Given the description of an element on the screen output the (x, y) to click on. 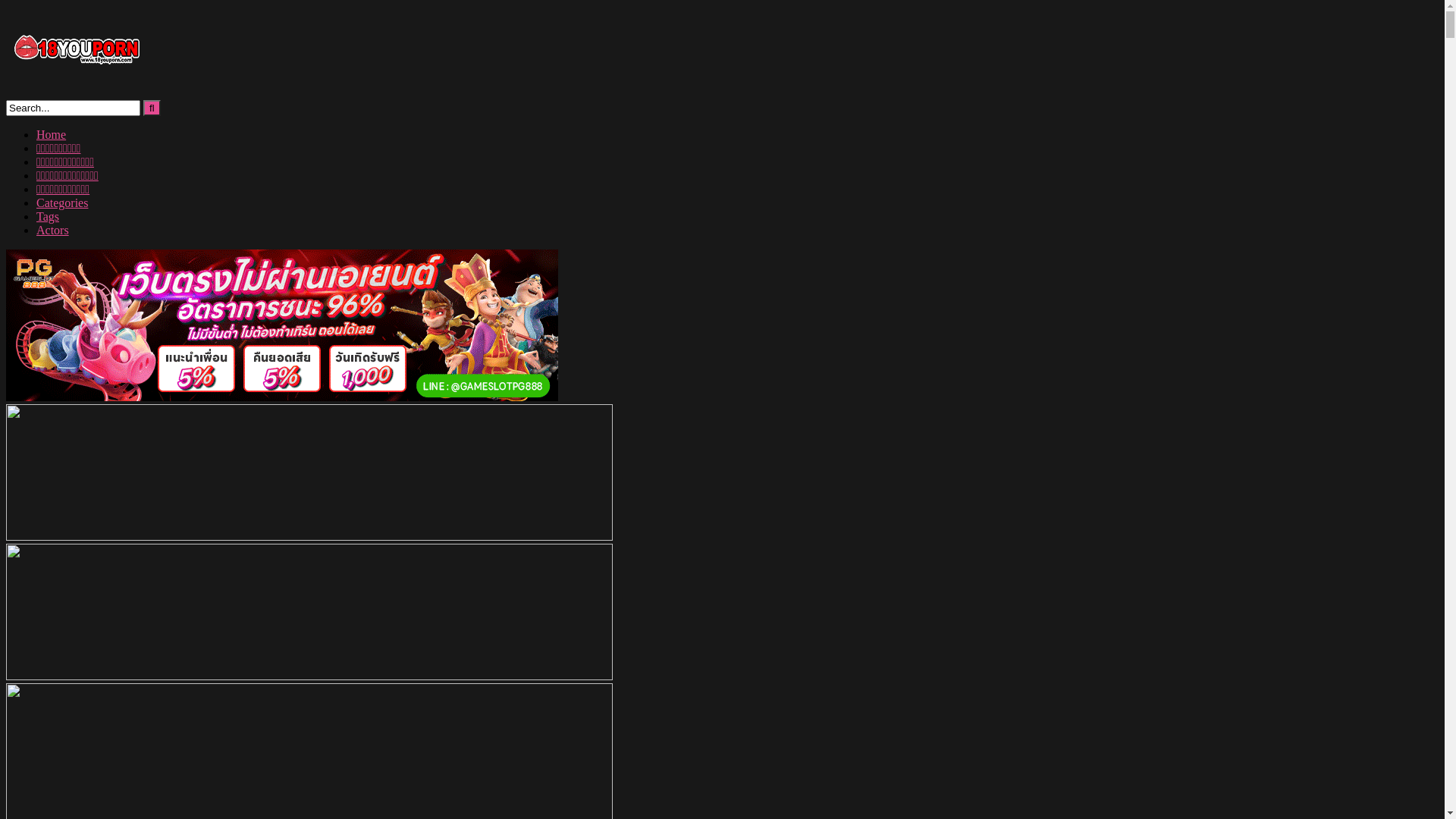
Categories Element type: text (61, 202)
Home Element type: text (50, 134)
Tags Element type: text (47, 216)
Actors Element type: text (52, 229)
Skip to content Element type: text (5, 5)
